Given the description of an element on the screen output the (x, y) to click on. 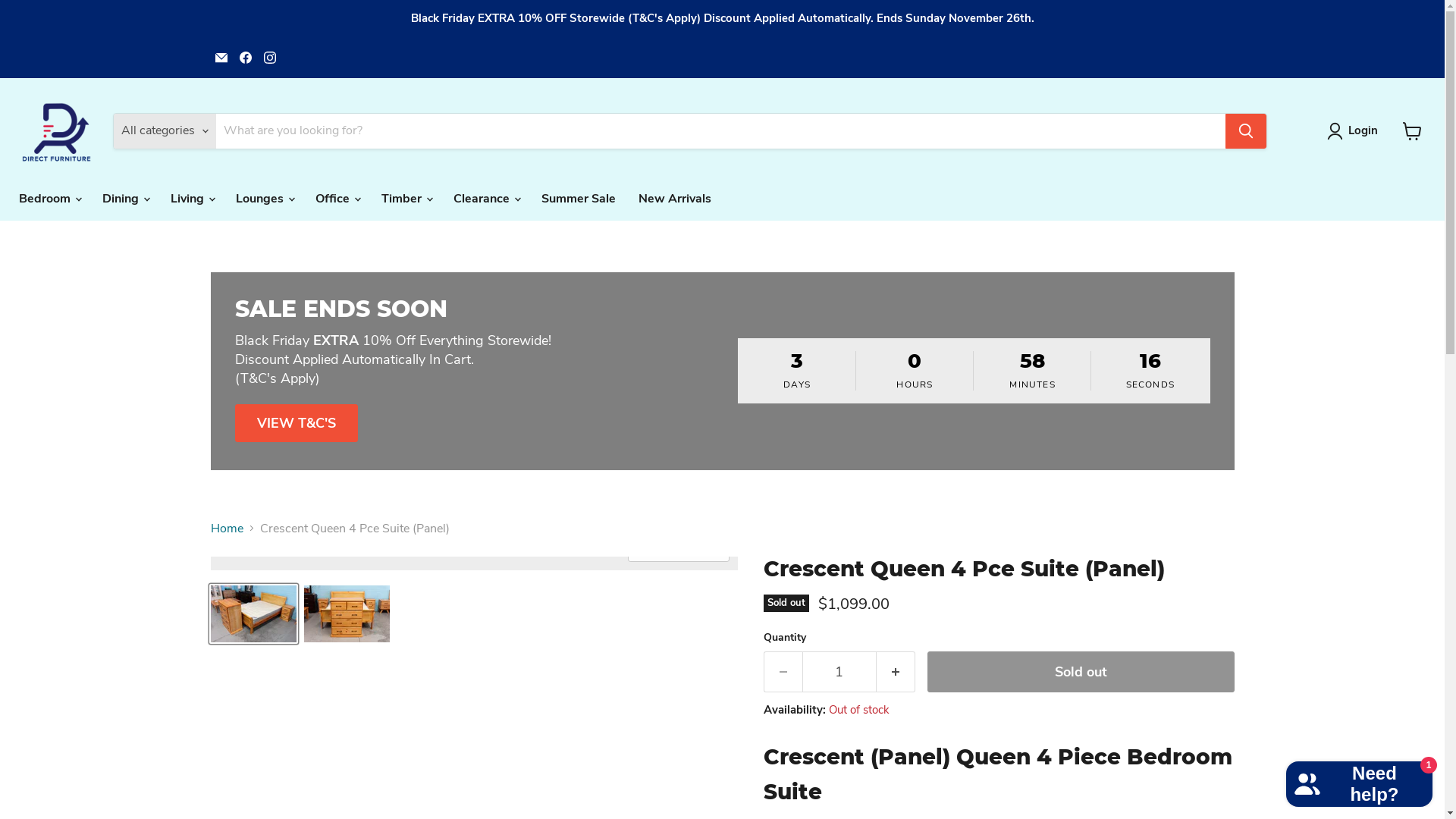
Login Element type: text (1355, 131)
Click to expand Element type: text (678, 550)
Find us on Facebook Element type: text (245, 57)
Home Element type: text (226, 528)
Shopify online store chat Element type: hover (1359, 780)
Summer Sale Element type: text (578, 197)
New Arrivals Element type: text (674, 197)
Sold out Element type: text (1079, 672)
Find us on Instagram Element type: text (269, 57)
View cart Element type: text (1412, 130)
VIEW T&C'S Element type: text (296, 423)
Email Direct Furniture Element type: text (221, 57)
